Given the description of an element on the screen output the (x, y) to click on. 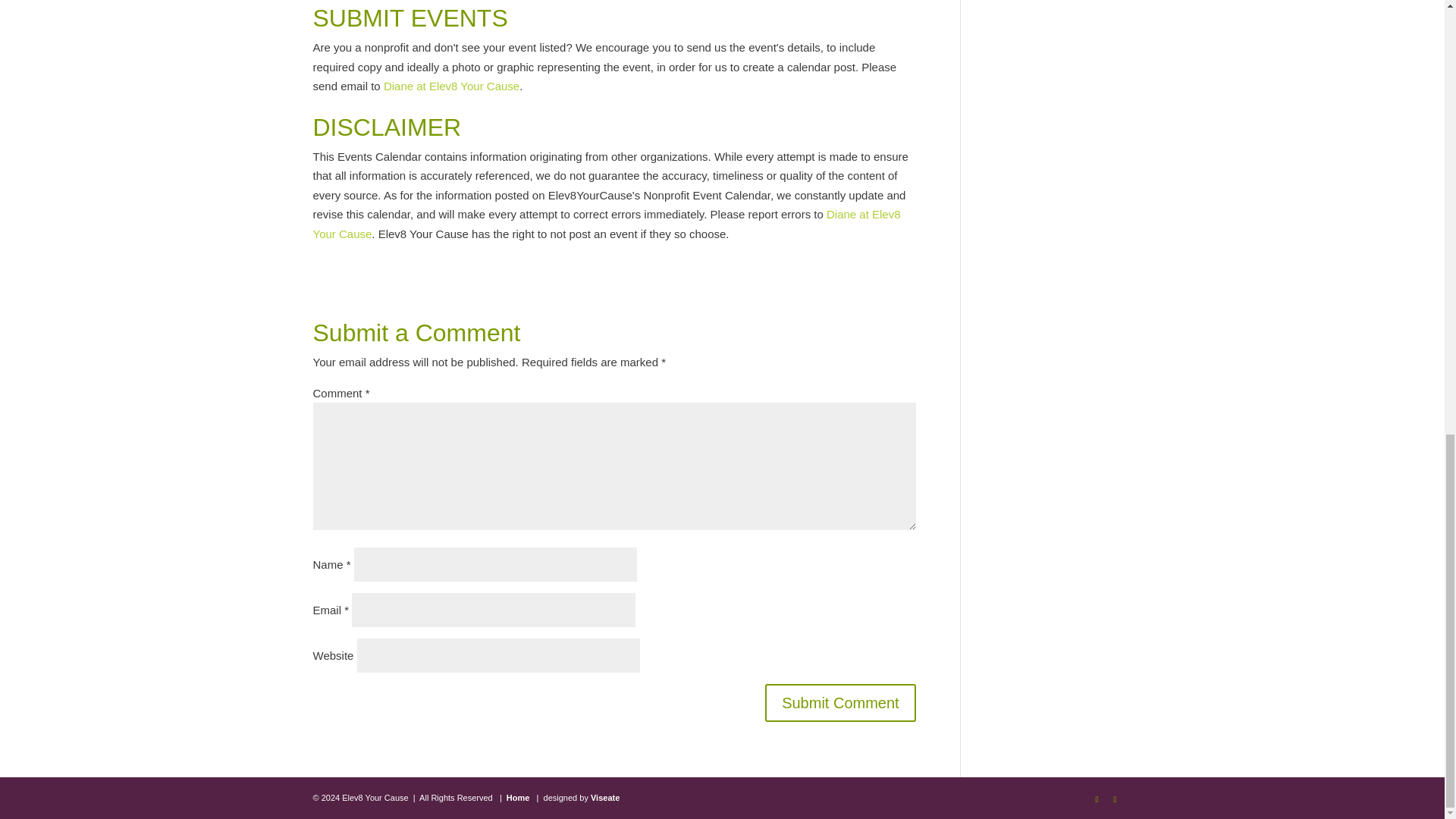
Submit Comment (840, 702)
Diane at Elev8 Your Cause (606, 224)
Diane at Elev8 Your Cause (451, 85)
Submit Comment (840, 702)
